Given the description of an element on the screen output the (x, y) to click on. 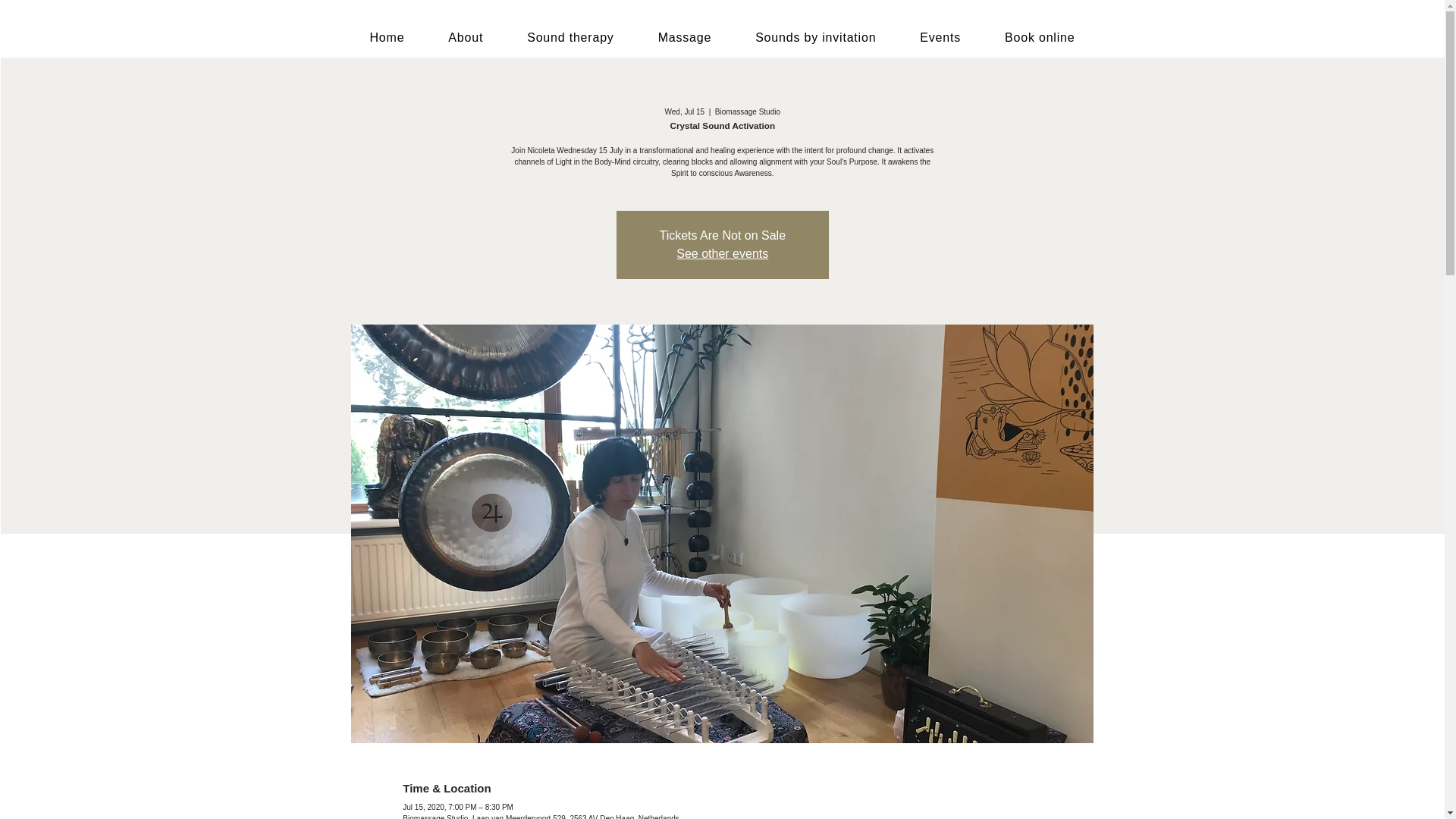
Sounds by invitation (815, 37)
See other events (722, 253)
Sound therapy (569, 37)
Home (386, 37)
About (465, 37)
Events (940, 37)
Massage (684, 37)
Book online (1039, 37)
